Given the description of an element on the screen output the (x, y) to click on. 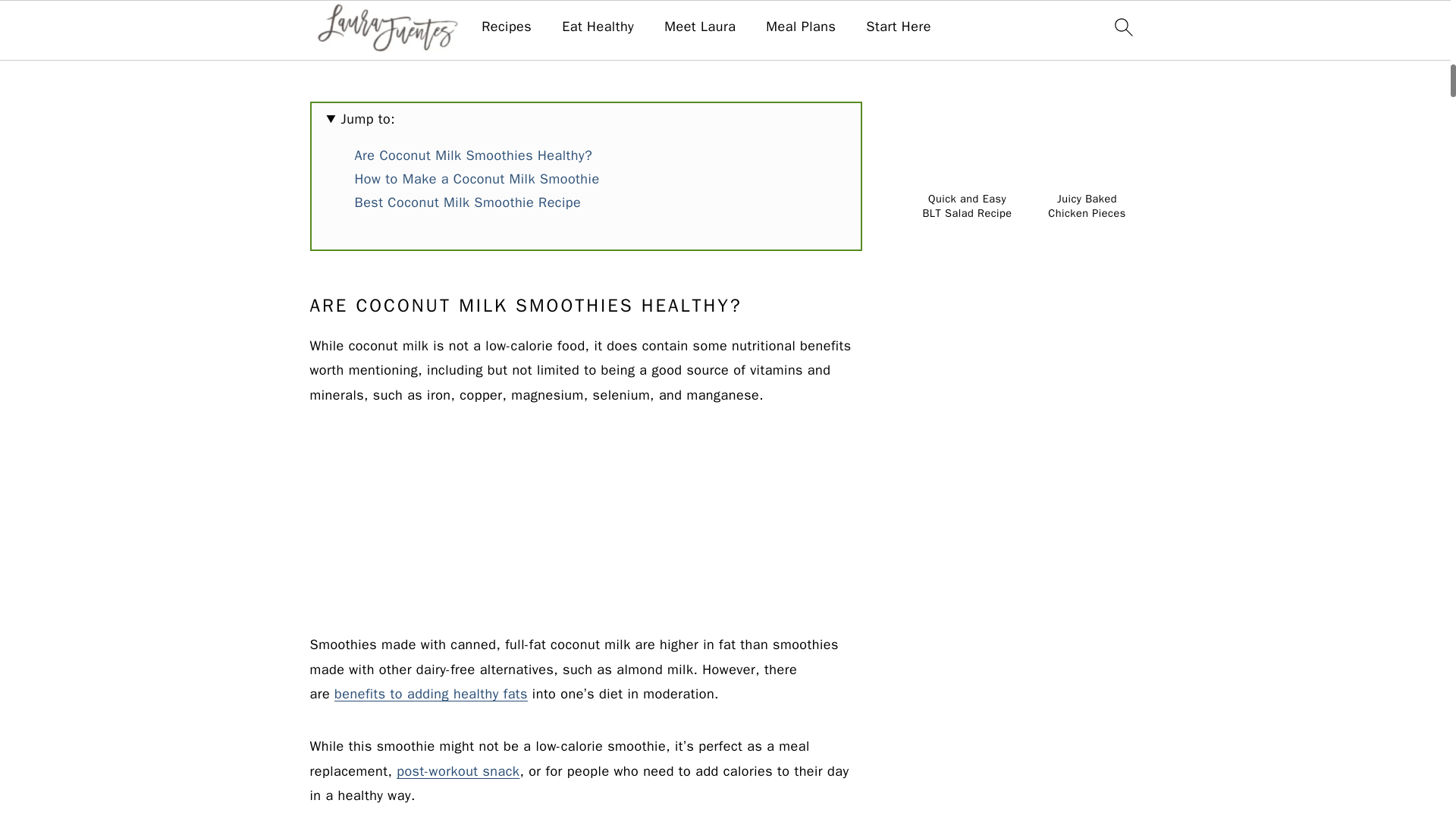
Best Coconut Milk Smoothie Recipe (467, 202)
Are Coconut Milk Smoothies Healthy? (473, 155)
post-workout snack (457, 770)
benefits to adding healthy fats (430, 693)
How to Make a Coconut Milk Smoothie (477, 178)
